Given the description of an element on the screen output the (x, y) to click on. 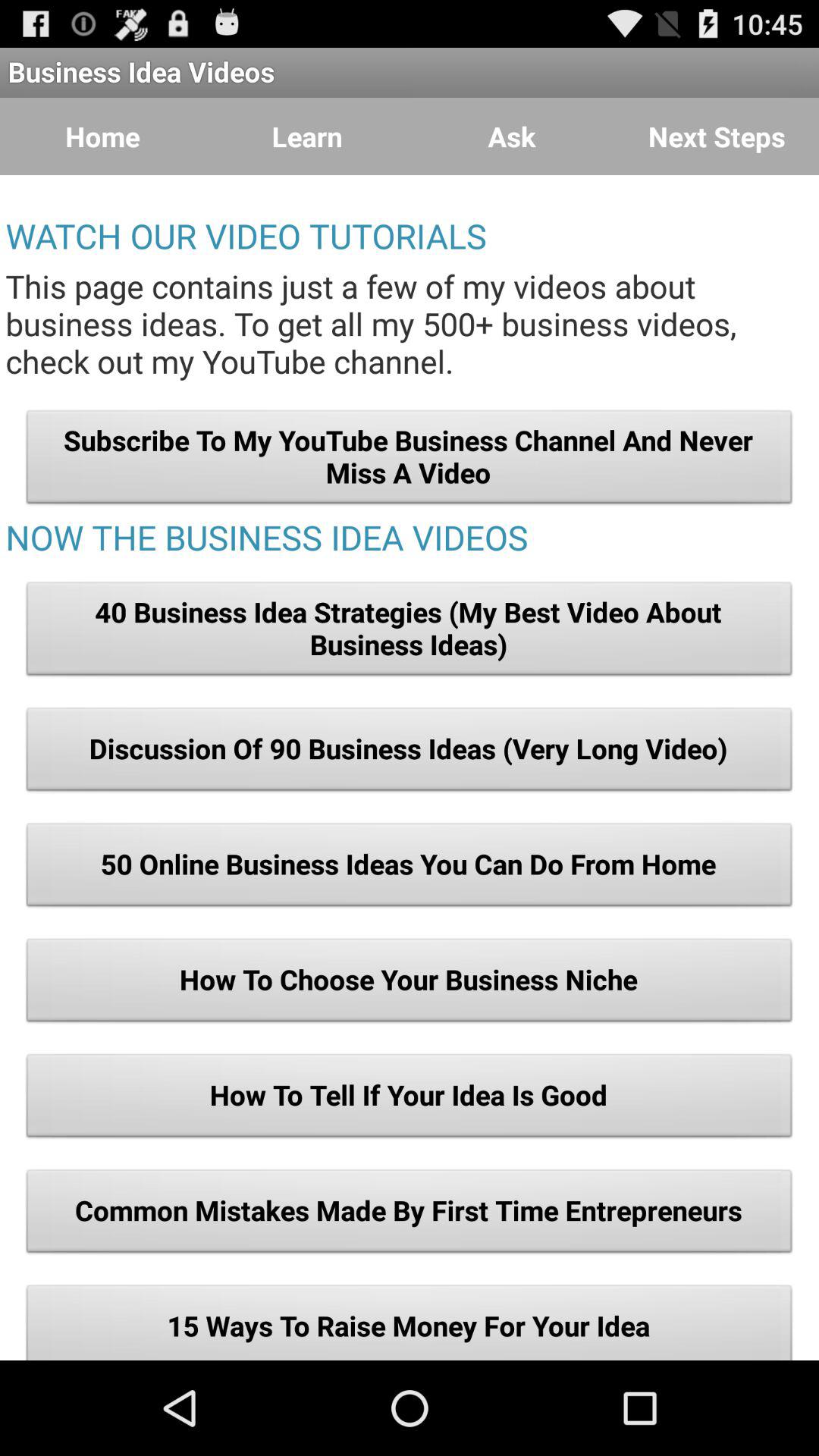
choose discussion of 90 (409, 753)
